Given the description of an element on the screen output the (x, y) to click on. 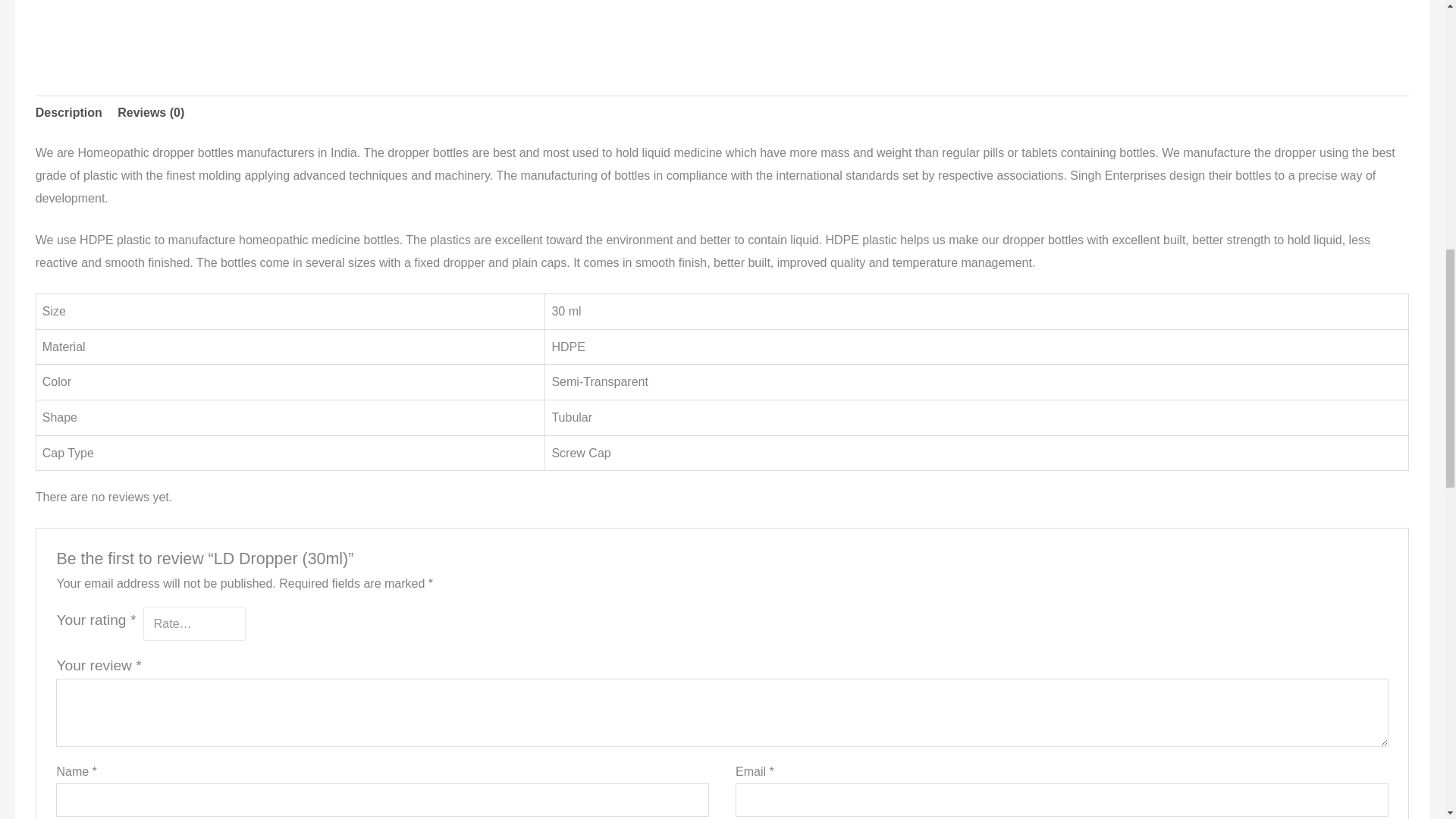
Description (67, 112)
